Given the description of an element on the screen output the (x, y) to click on. 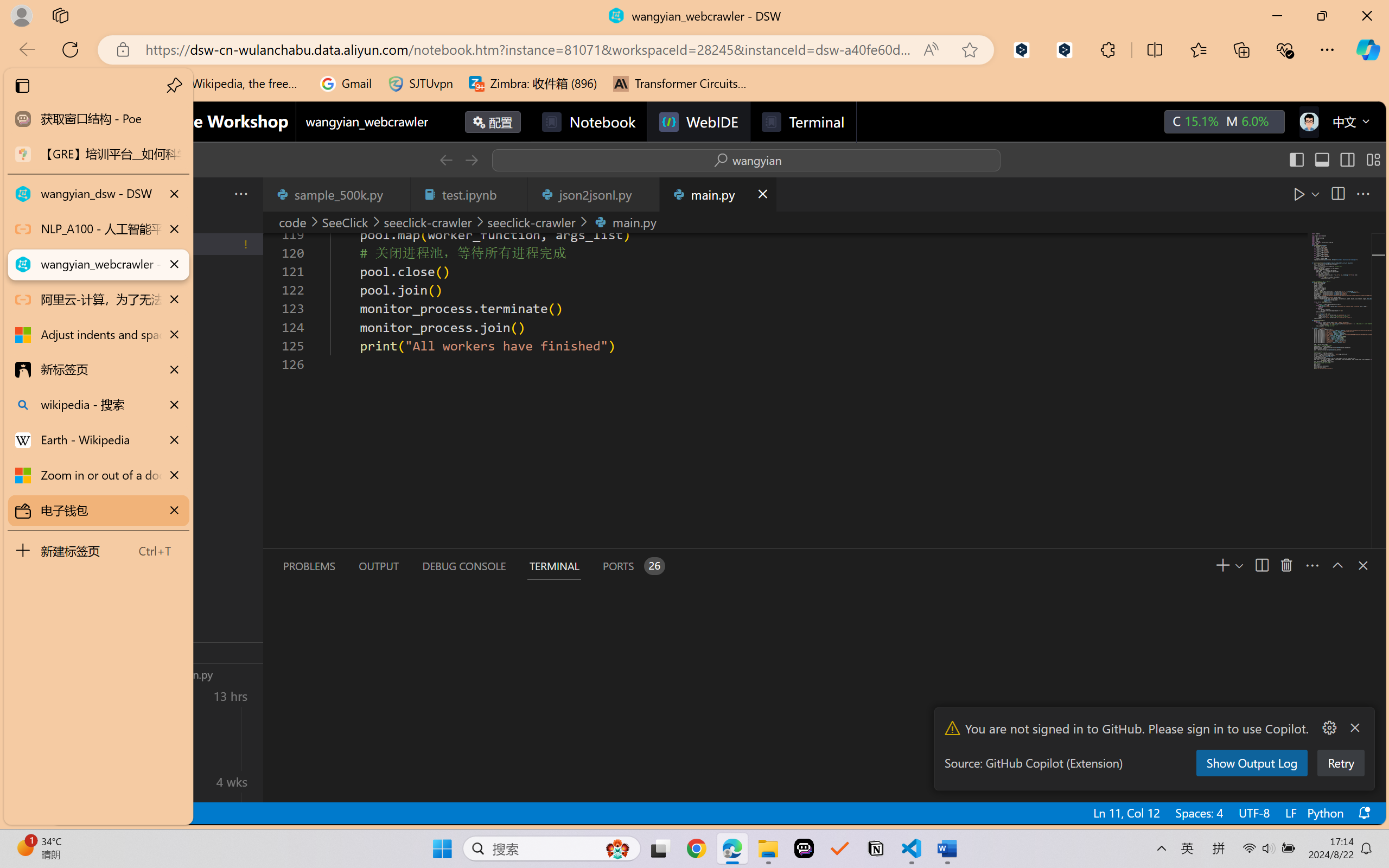
Terminal (801, 121)
UTF-8 (1253, 812)
Extensions (Ctrl+Shift+X) (73, 422)
Adjust indents and spacing - Microsoft Support (97, 334)
Explorer actions (212, 194)
Earth - Wikipedia (97, 440)
Tab actions (762, 194)
sample_500k.py (336, 194)
Toggle Secondary Side Bar (Ctrl+Alt+B) (1347, 159)
Application Menu (73, 194)
